Given the description of an element on the screen output the (x, y) to click on. 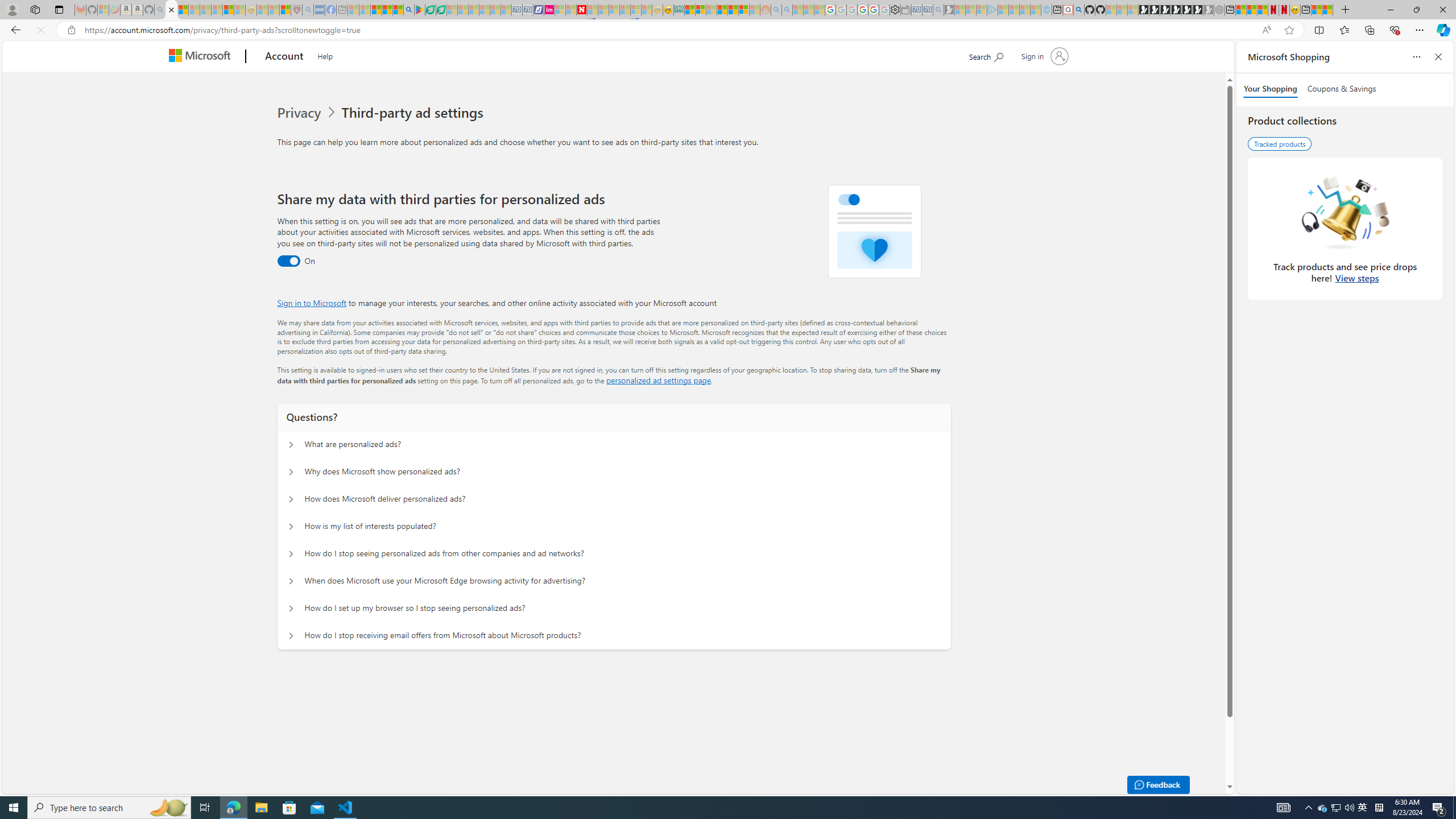
Sign in to Microsoft (311, 302)
Questions? Why does Microsoft show personalized ads? (290, 472)
